Given the description of an element on the screen output the (x, y) to click on. 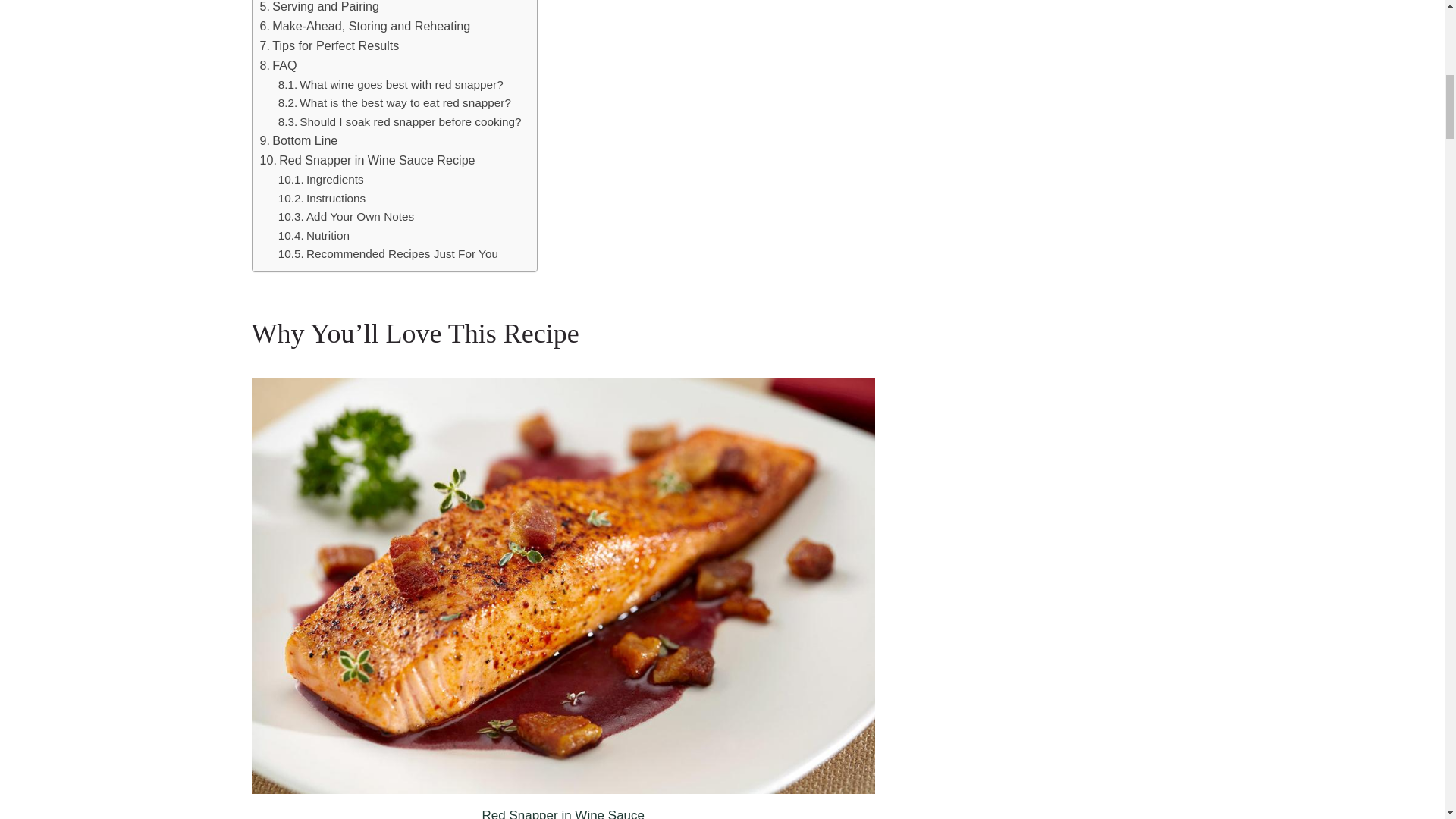
Tips for Perfect Results (328, 46)
Instructions  (323, 198)
Should I soak red snapper before cooking? (399, 122)
Bottom Line (298, 140)
Serving and Pairing (318, 8)
What wine goes best with red snapper? (390, 85)
Recommended Recipes Just For You (387, 253)
What is the best way to eat red snapper? (394, 103)
Nutrition (313, 235)
Red Snapper in Wine Sauce Recipe (366, 160)
What is the best way to eat red snapper? (394, 103)
Nutrition (313, 235)
Red Snapper in Wine Sauce Recipe (366, 160)
Bottom Line (298, 140)
Make-Ahead, Storing and Reheating (364, 26)
